Given the description of an element on the screen output the (x, y) to click on. 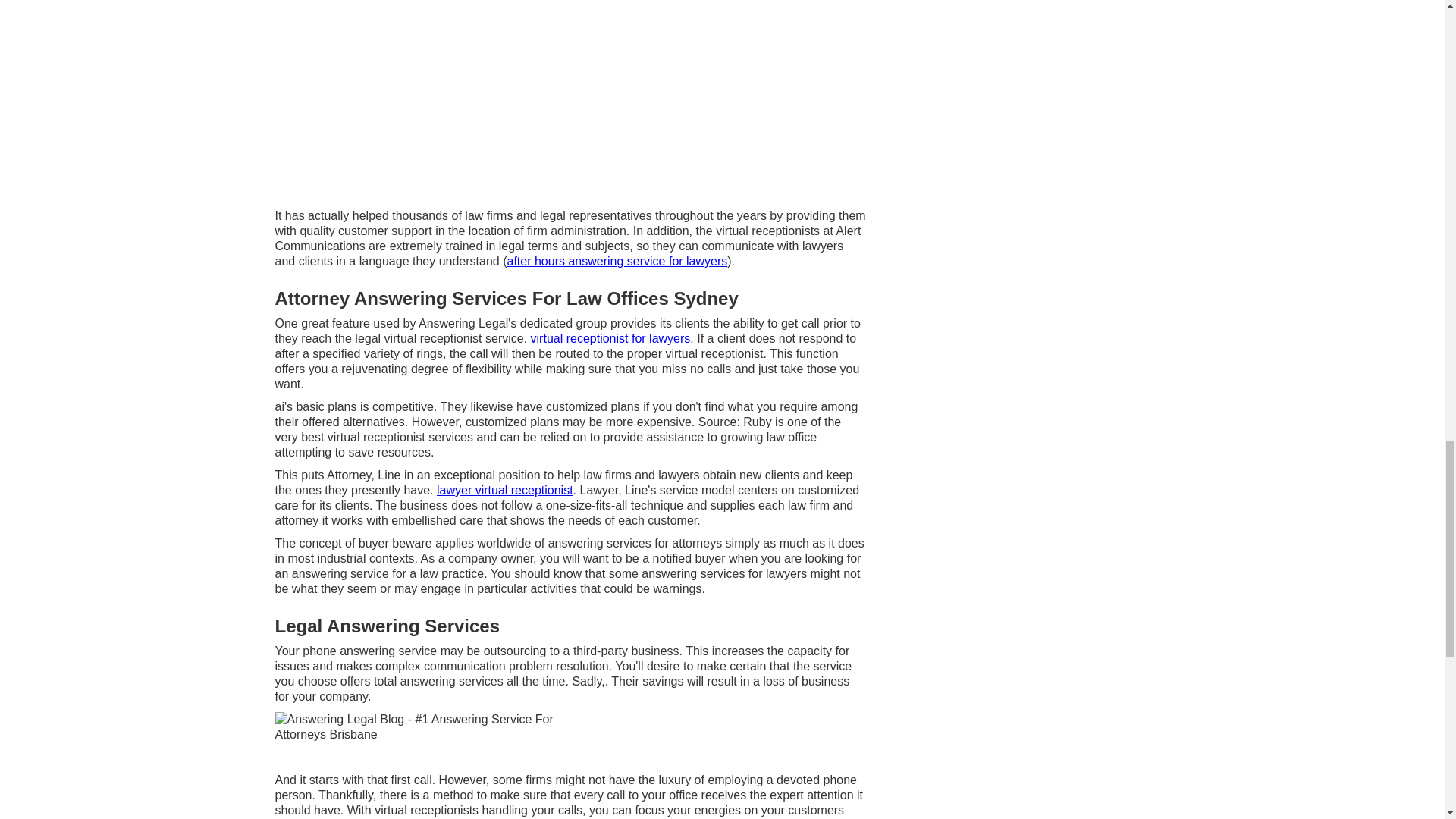
virtual receptionist for lawyers (610, 338)
after hours answering service for lawyers (616, 260)
growing law office (768, 436)
lawyer virtual receptionist (504, 490)
